Given the description of an element on the screen output the (x, y) to click on. 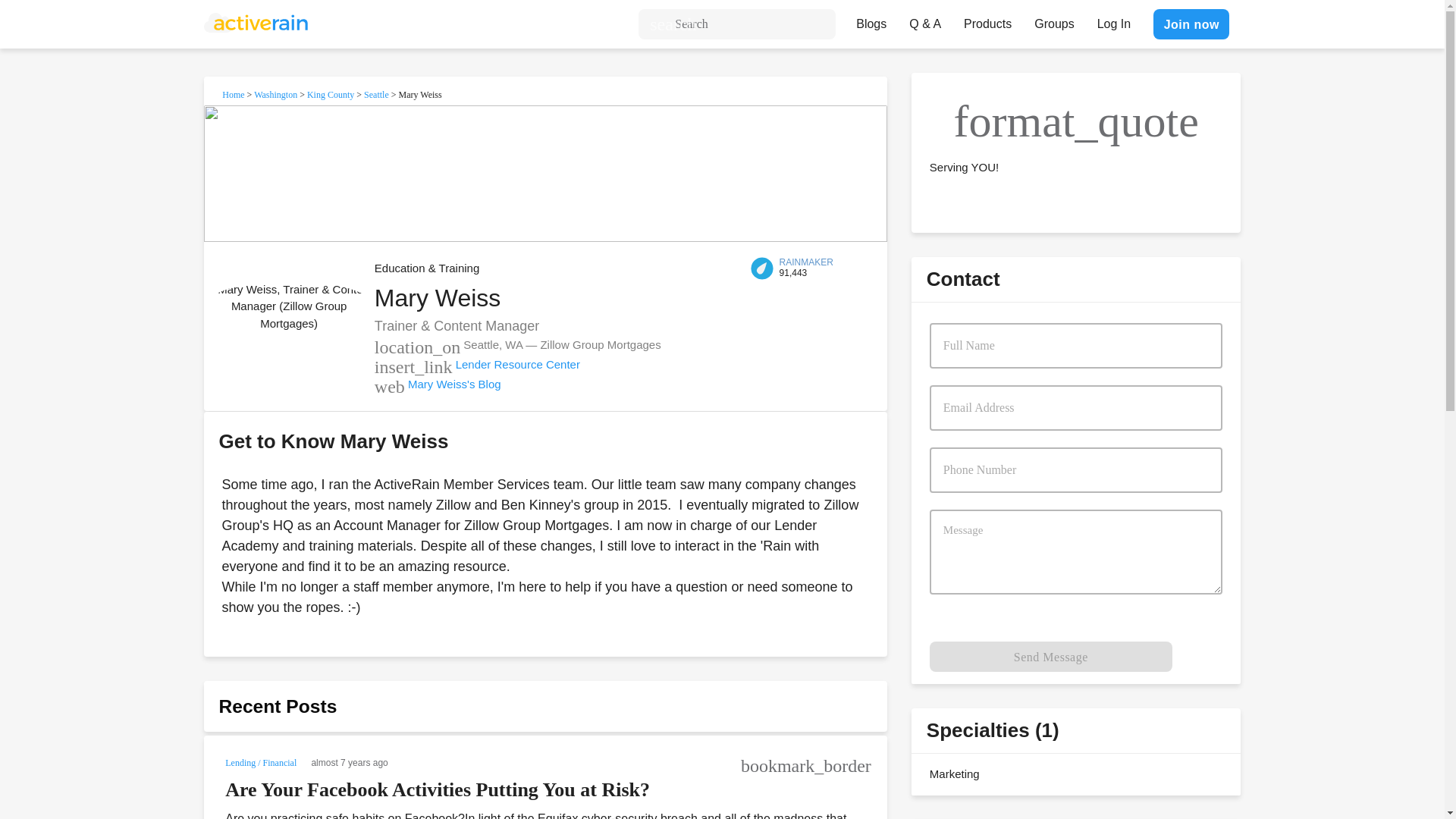
King County (330, 94)
Home (233, 94)
Are Your Facebook Activities Putting You at Risk? (437, 789)
Recent Posts (277, 706)
web Mary Weiss's Blog (437, 383)
Blogs (870, 19)
Send Message (1051, 656)
Washington (275, 94)
Seattle (376, 94)
Log In (1113, 19)
